Given the description of an element on the screen output the (x, y) to click on. 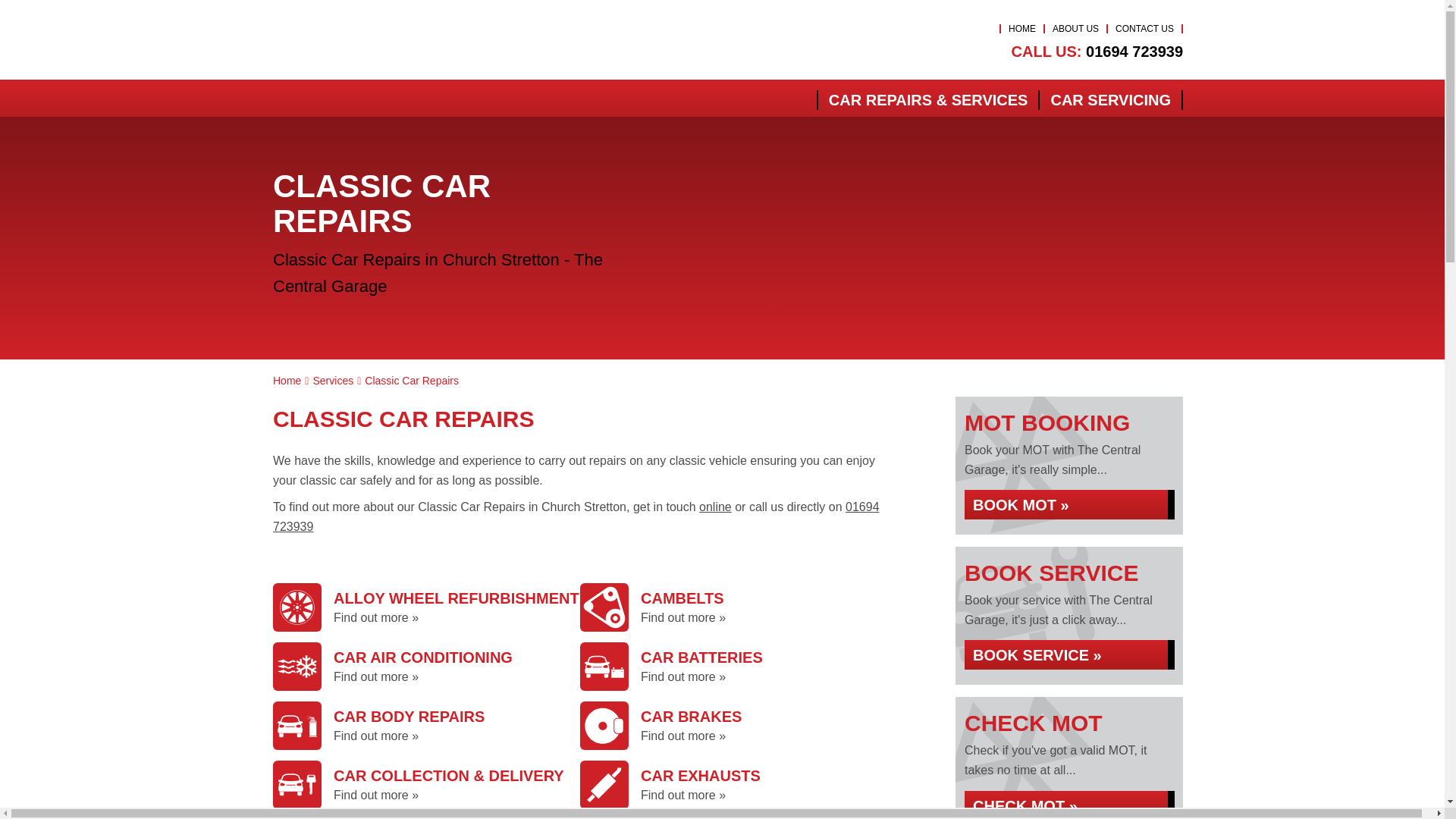
HOME (1022, 28)
CONTACT US (1144, 28)
CALL US: 01694 723939 (1096, 51)
ABOUT US (1075, 28)
